Given the description of an element on the screen output the (x, y) to click on. 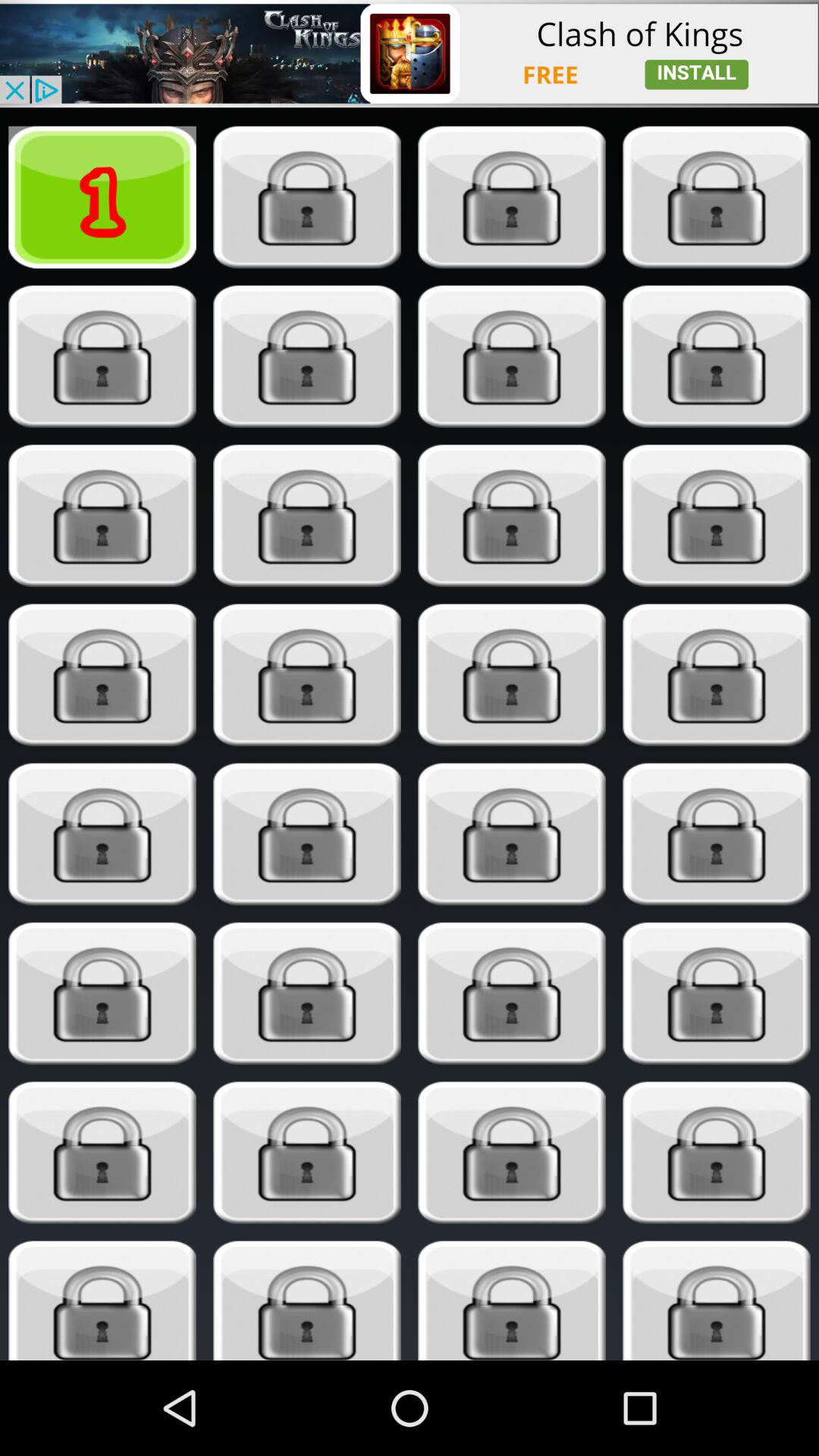
look here (716, 515)
